Given the description of an element on the screen output the (x, y) to click on. 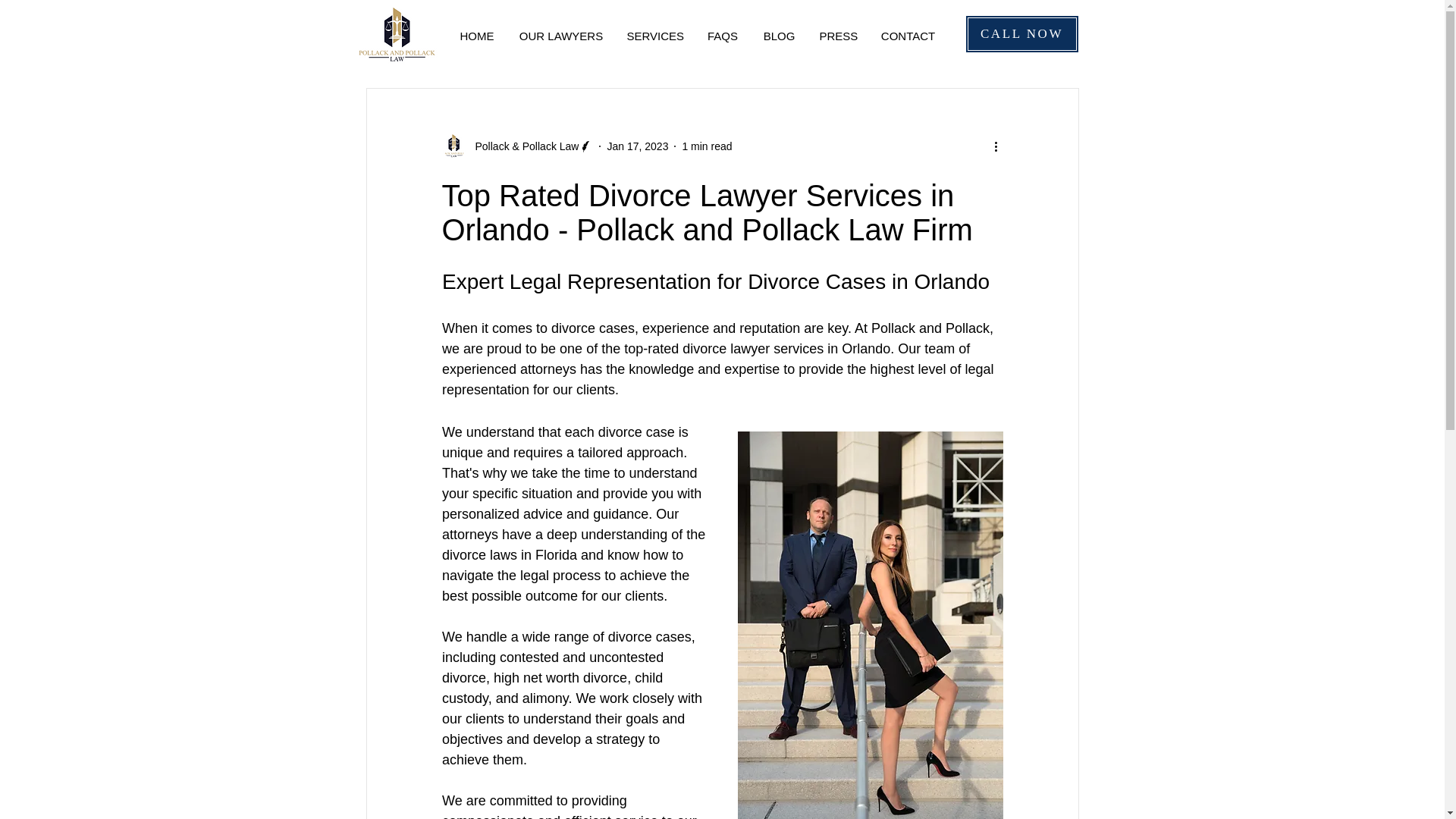
Jan 17, 2023 (637, 145)
1 min read (706, 145)
CALL NOW (1020, 34)
OUR LAWYERS (560, 36)
PRESS (838, 36)
CONTACT (908, 36)
FAQS (721, 36)
HOME (476, 36)
SERVICES (655, 36)
BLOG (779, 36)
